Given the description of an element on the screen output the (x, y) to click on. 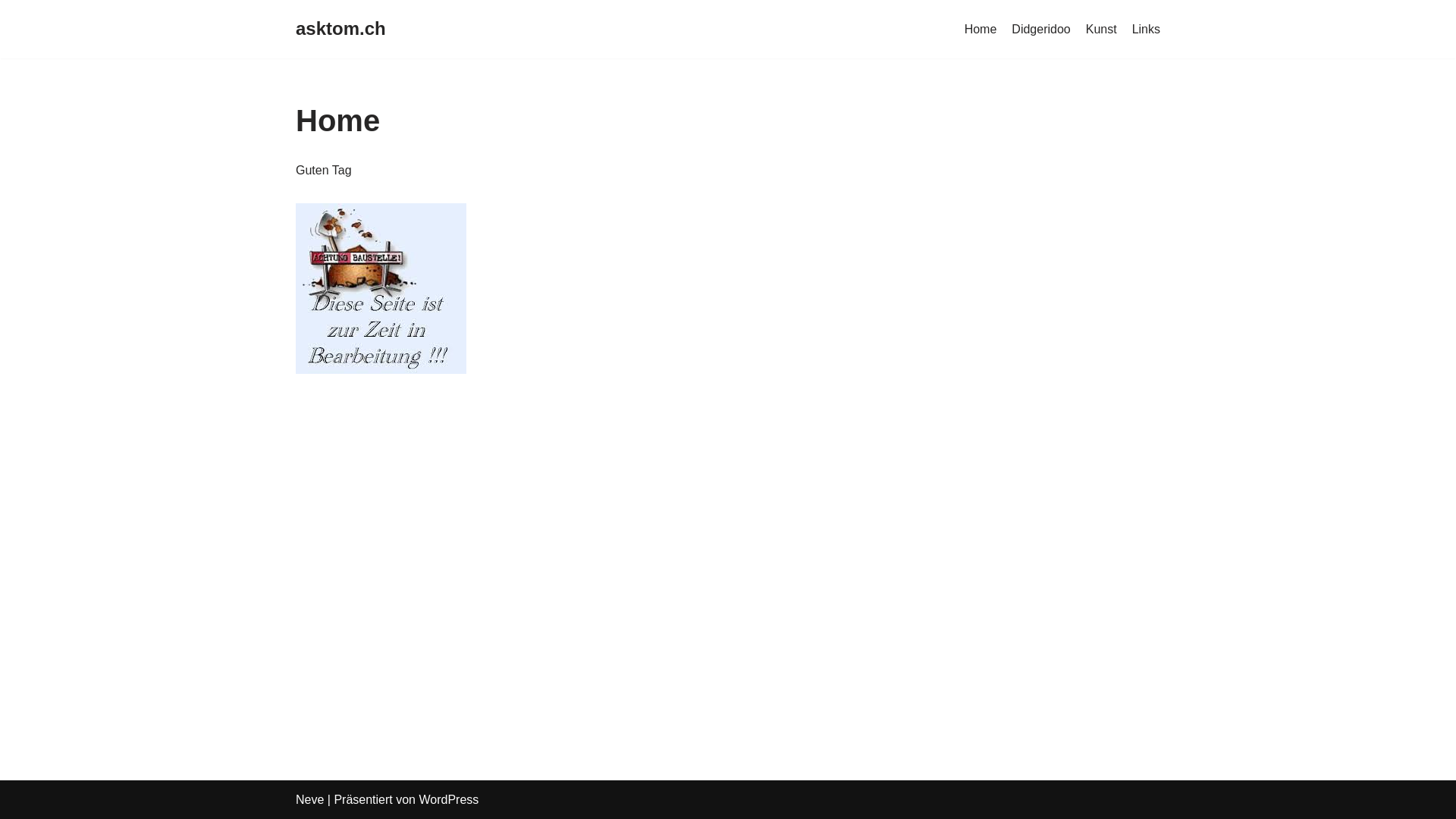
WordPress Element type: text (448, 799)
Home Element type: text (980, 29)
Didgeridoo Element type: text (1040, 29)
Zum Inhalt springen Element type: text (11, 31)
asktom.ch Element type: text (340, 28)
Kunst Element type: text (1101, 29)
Neve Element type: text (309, 799)
Links Element type: text (1146, 29)
